Given the description of an element on the screen output the (x, y) to click on. 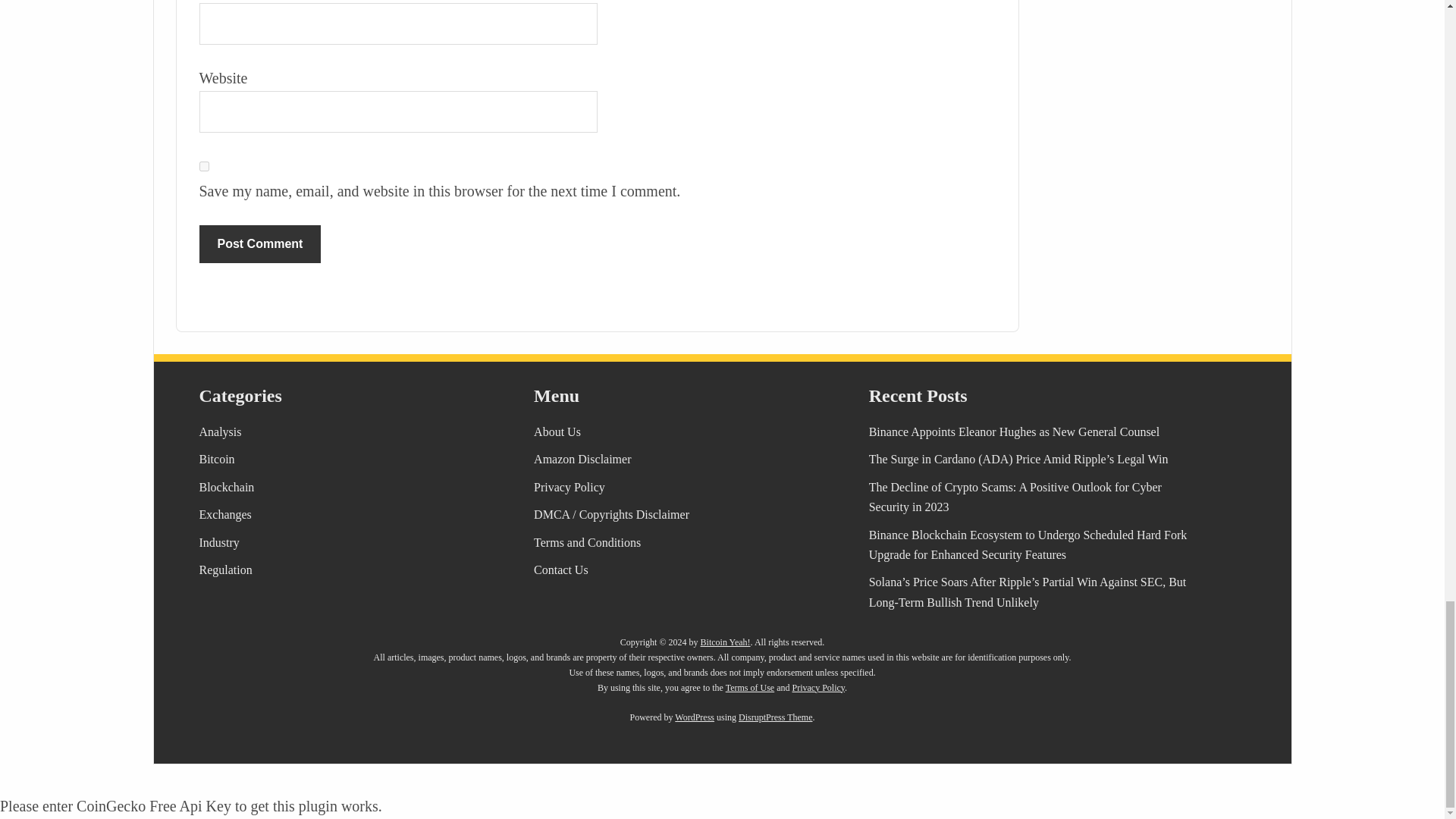
yes (203, 166)
Post Comment (259, 243)
